Given the description of an element on the screen output the (x, y) to click on. 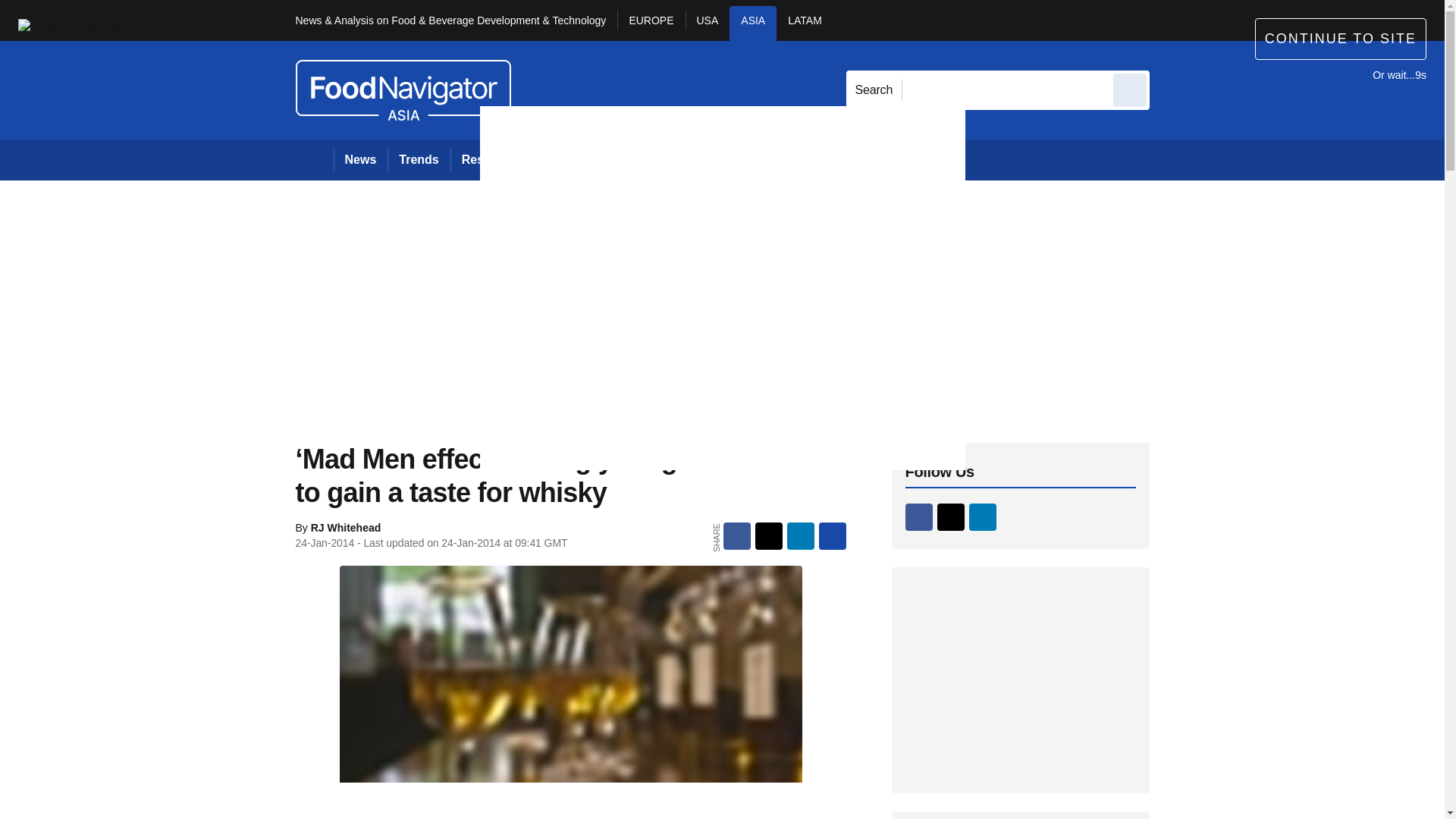
Sign out (1174, 20)
Home (313, 159)
EUROPE (650, 22)
USA (707, 22)
LATAM (804, 22)
Send (1129, 89)
My account (1256, 20)
Send (1129, 90)
REGISTER (1250, 20)
FoodNavigator Asia (403, 89)
3rd party ad content (1020, 679)
ASIA (752, 22)
Trends (418, 159)
CONTINUE TO SITE (1340, 38)
